Given the description of an element on the screen output the (x, y) to click on. 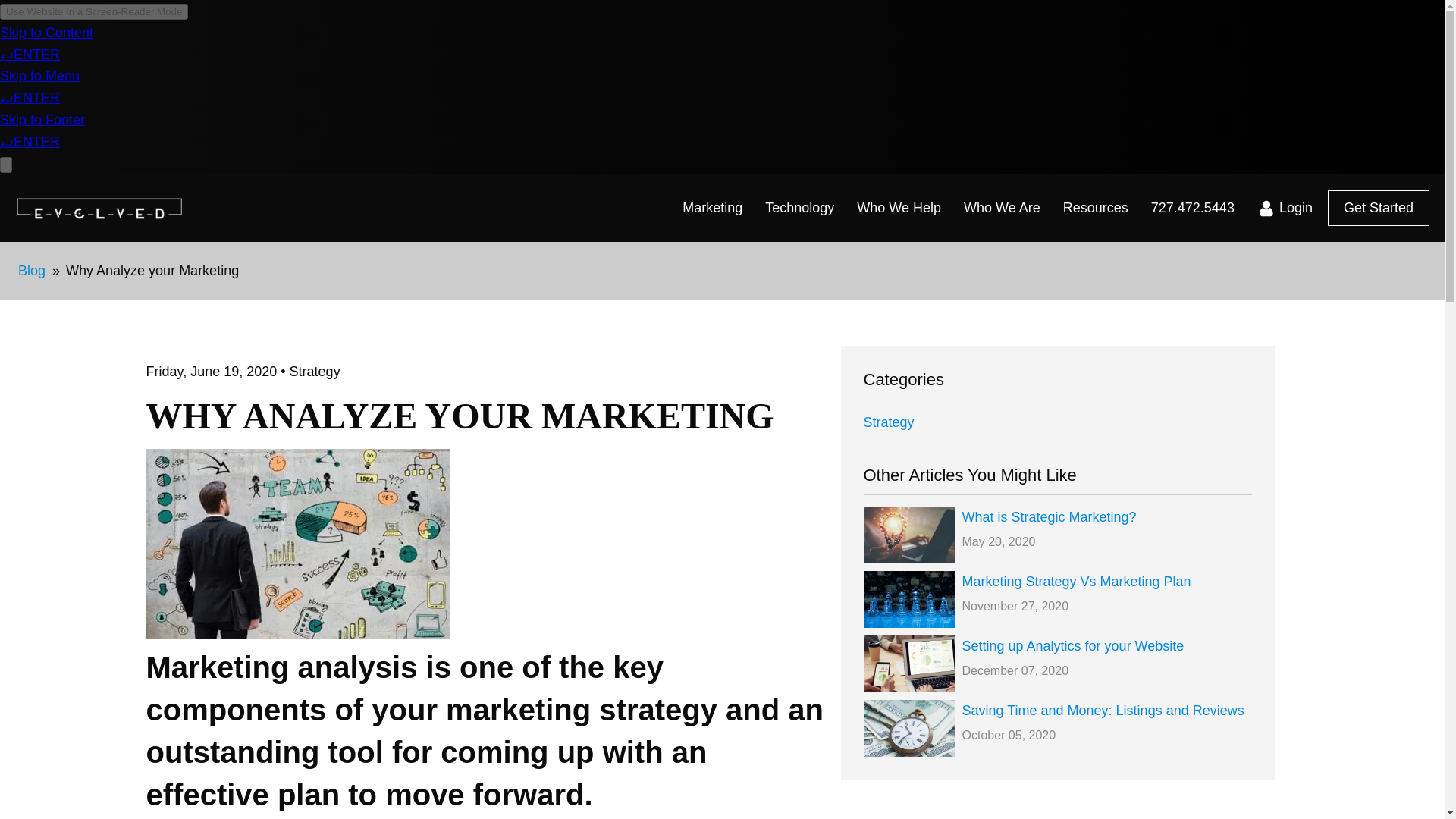
Breadcrumb link to Blog (31, 270)
